Given the description of an element on the screen output the (x, y) to click on. 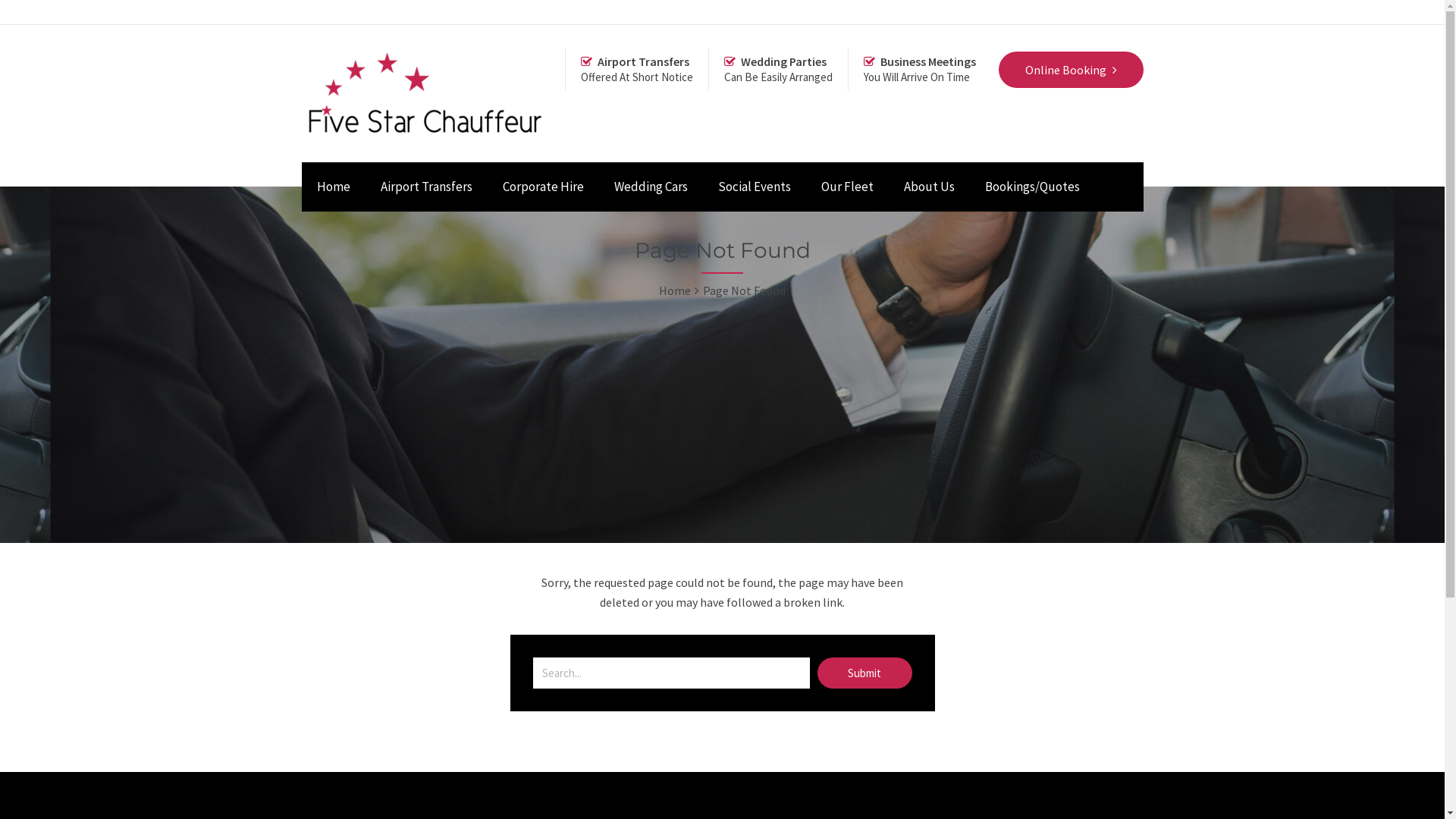
Airport Transfers Element type: text (426, 186)
Wedding Cars Element type: text (650, 186)
About Us Element type: text (928, 186)
Online Booking Element type: text (1069, 69)
Submit Element type: text (864, 672)
Home Element type: text (674, 290)
Our Fleet Element type: text (846, 186)
Home Element type: text (333, 186)
Corporate Hire Element type: text (542, 186)
Bookings/Quotes Element type: text (1031, 186)
Social Events Element type: text (753, 186)
